Given the description of an element on the screen output the (x, y) to click on. 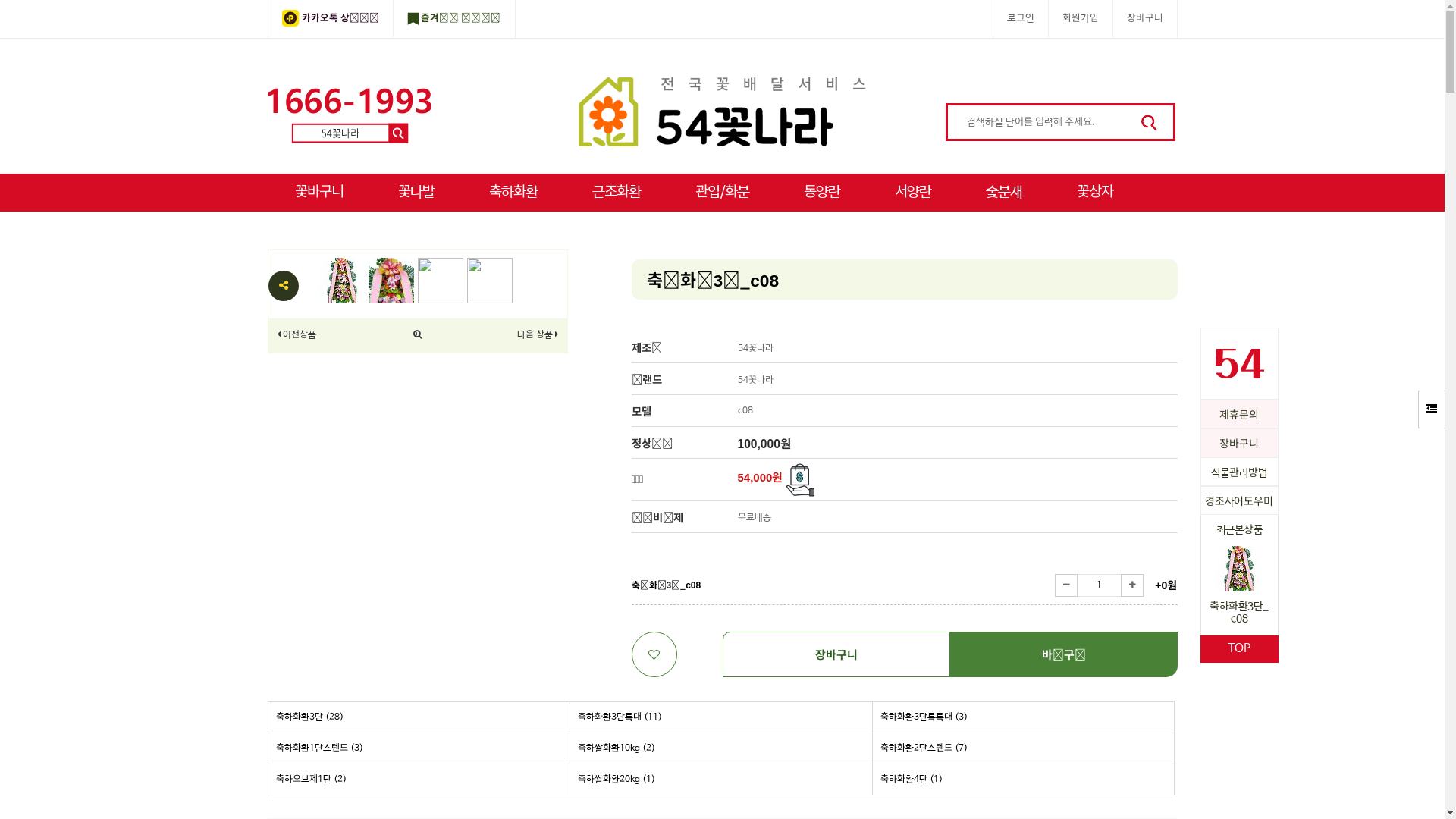
TOP Element type: text (1238, 648)
